Given the description of an element on the screen output the (x, y) to click on. 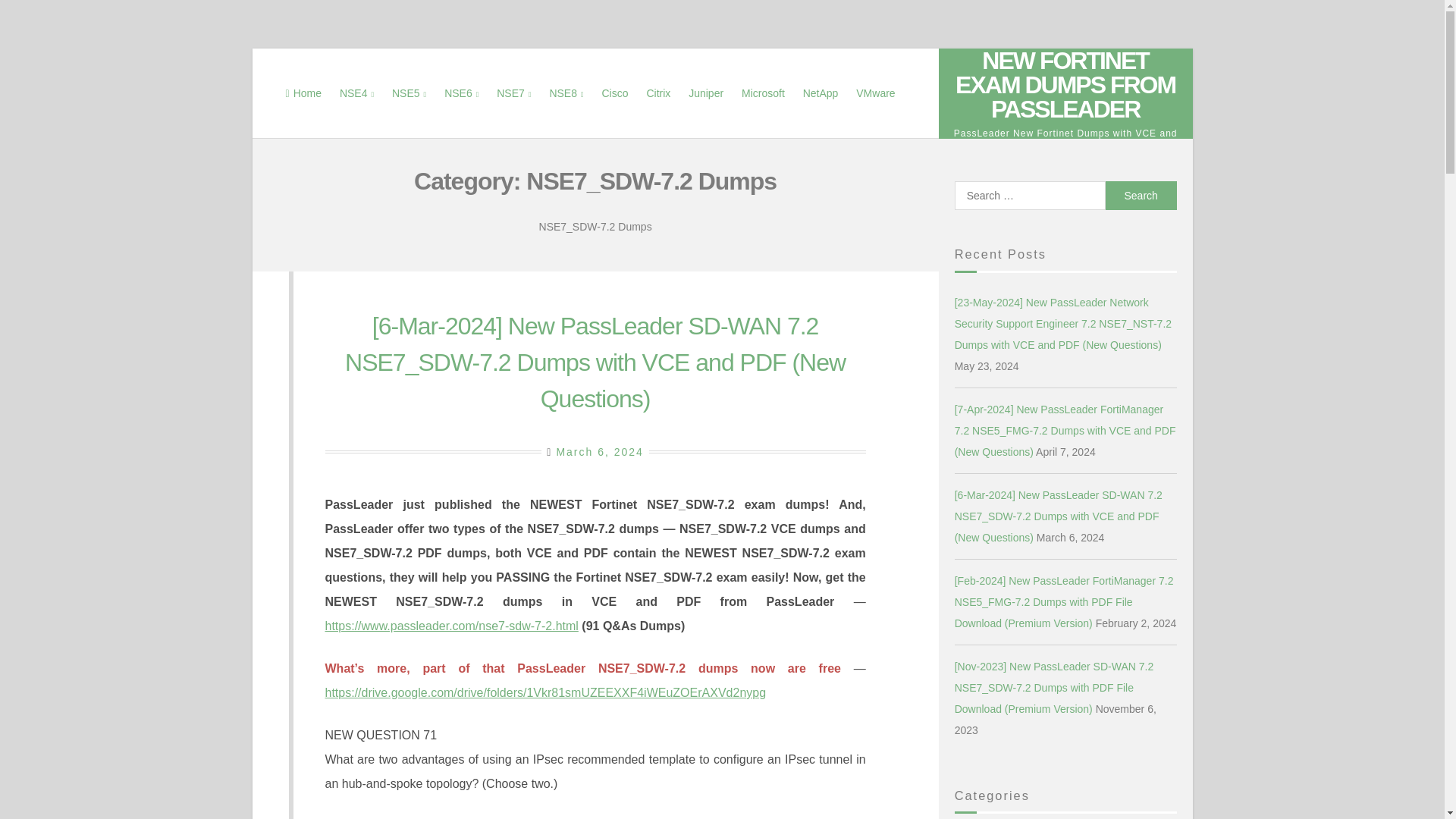
NSE5 (408, 93)
NEW FORTINET EXAM DUMPS FROM PASSLEADER (1064, 84)
NSE7 (513, 93)
NSE6 (461, 93)
Home (303, 93)
Search (1140, 194)
Search (1140, 194)
NSE4 (356, 93)
